Given the description of an element on the screen output the (x, y) to click on. 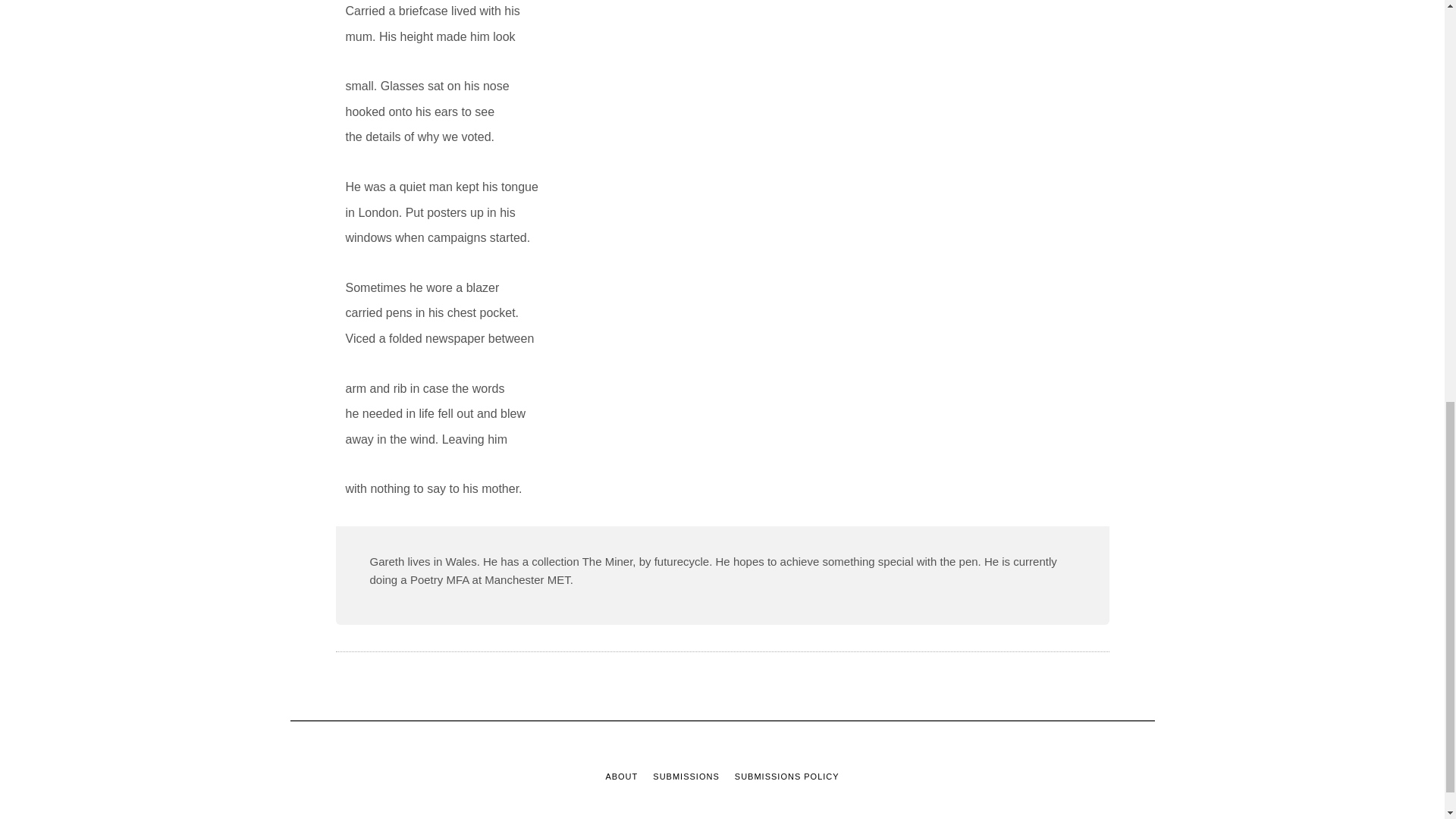
SUBMISSIONS (685, 776)
SUBMISSIONS POLICY (787, 776)
ABOUT (621, 776)
